Given the description of an element on the screen output the (x, y) to click on. 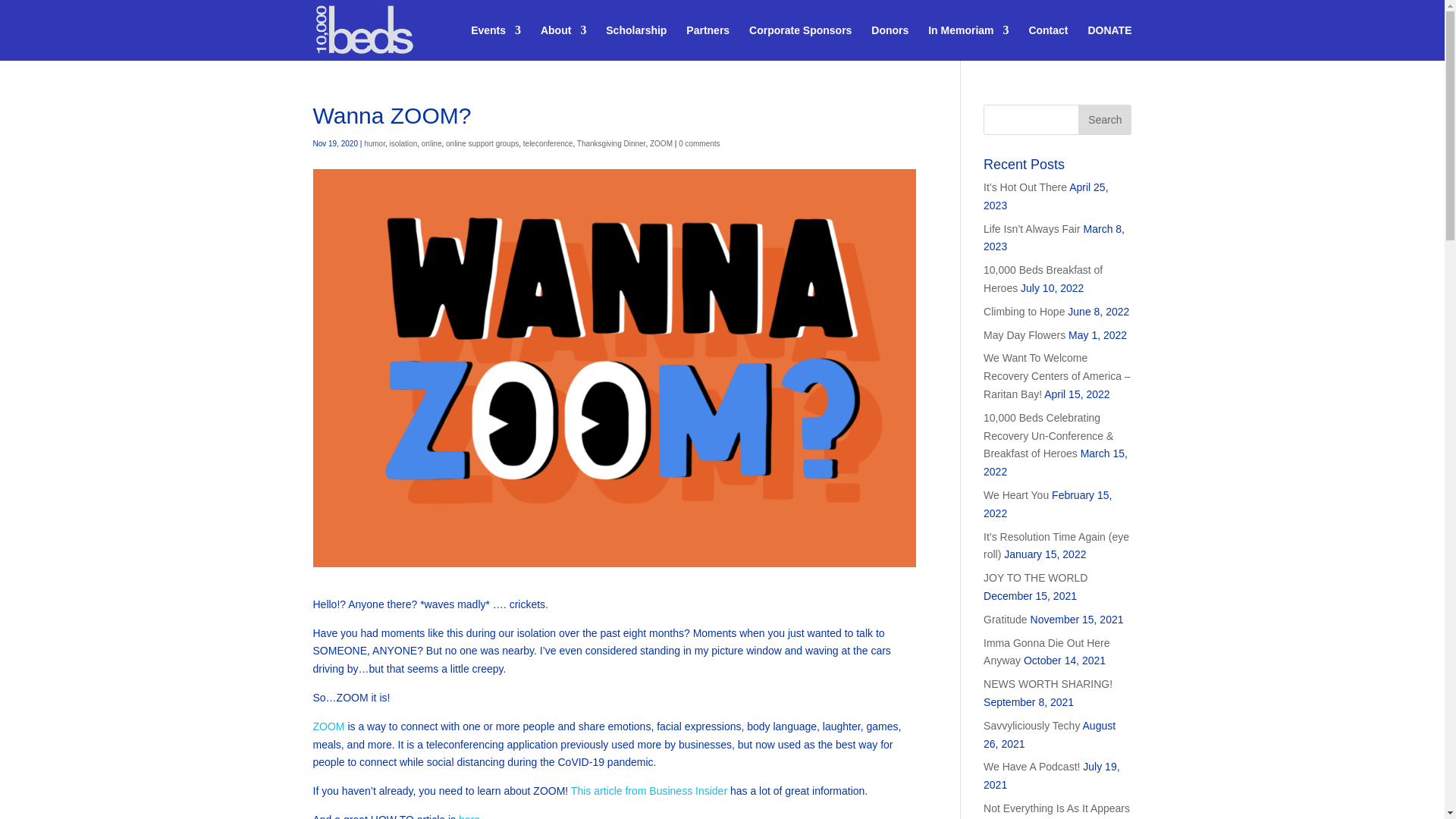
In Memoriam (968, 42)
Events (495, 42)
Corporate Sponsors (800, 42)
teleconference (547, 143)
Scholarship (635, 42)
Thanksgiving Dinner (611, 143)
Donors (889, 42)
online (432, 143)
here (469, 816)
online support groups (481, 143)
